Given the description of an element on the screen output the (x, y) to click on. 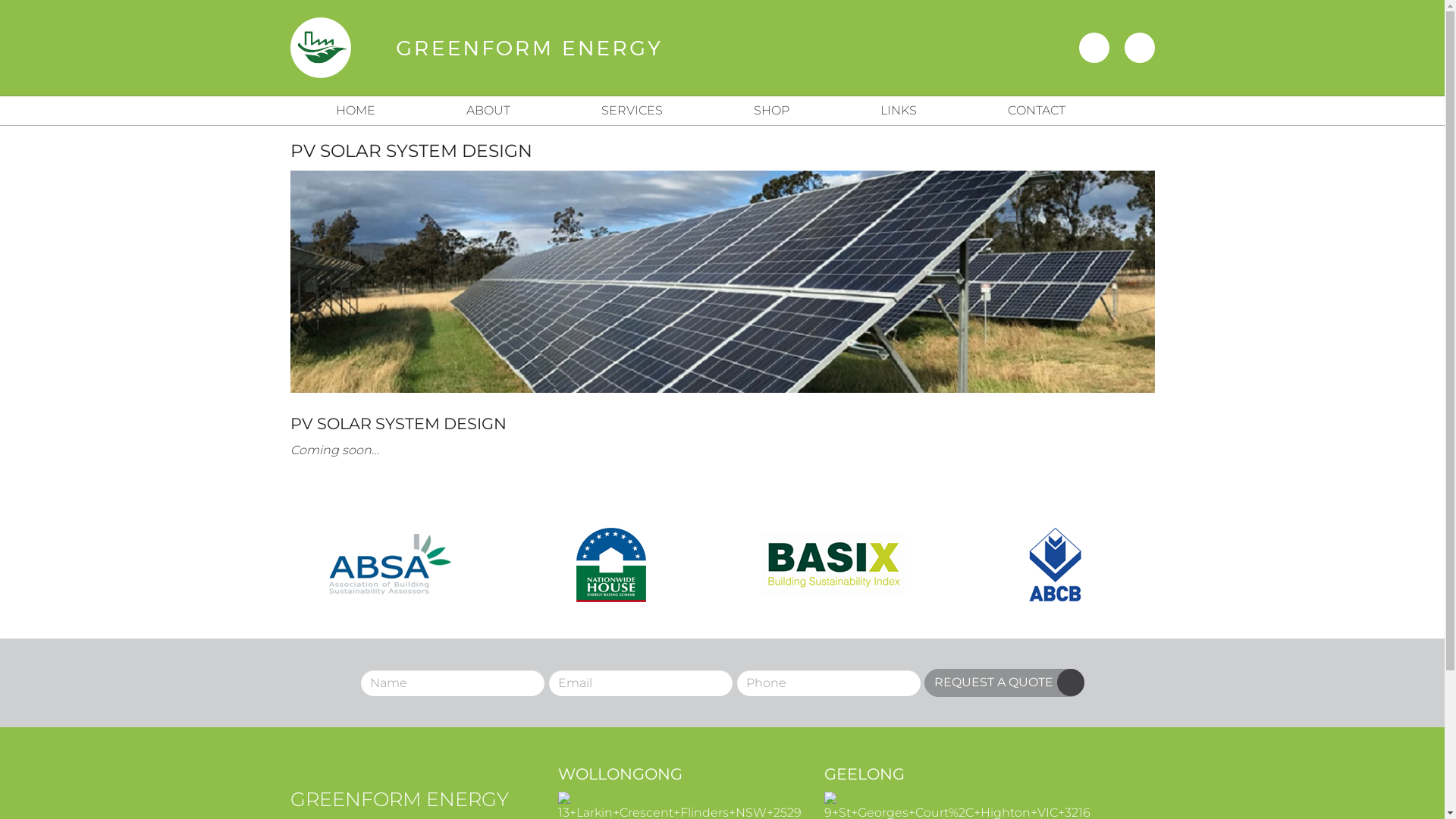
LINKS Element type: text (897, 110)
ABOUT Element type: text (487, 110)
SHOP Element type: text (771, 110)
HOME Element type: text (354, 110)
SERVICES Element type: text (631, 110)
The Association of Building Sustainability Assessors Element type: hover (389, 564)
The Building Sustainability Index (BASIX) Element type: hover (833, 564)
Nationwide House Energy Rating Scheme (NatHERS) Element type: hover (611, 564)
REQUEST A QUOTE Element type: text (1004, 682)
CONTACT Element type: text (1035, 110)
Australian Building Codes Board (ABCB) Element type: hover (1054, 564)
